Given the description of an element on the screen output the (x, y) to click on. 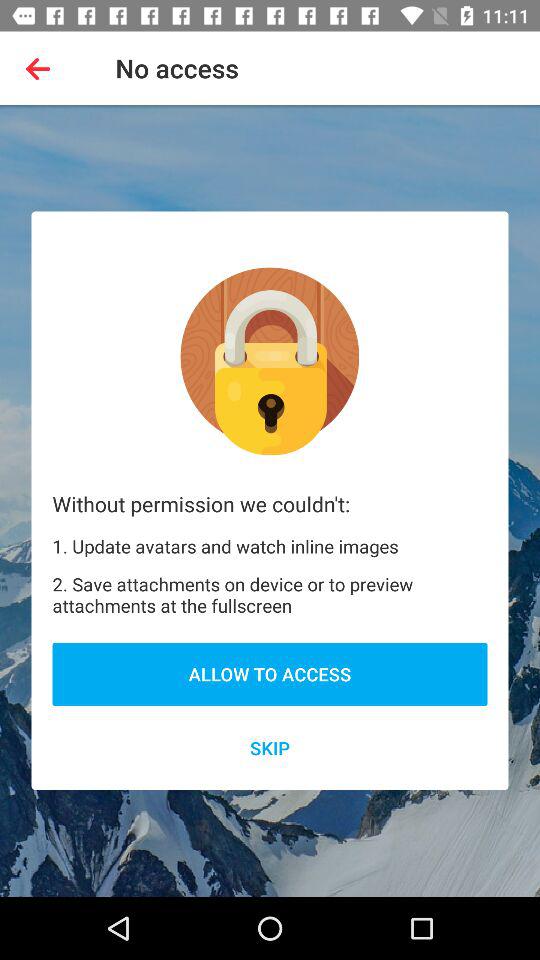
scroll to the skip (269, 747)
